Given the description of an element on the screen output the (x, y) to click on. 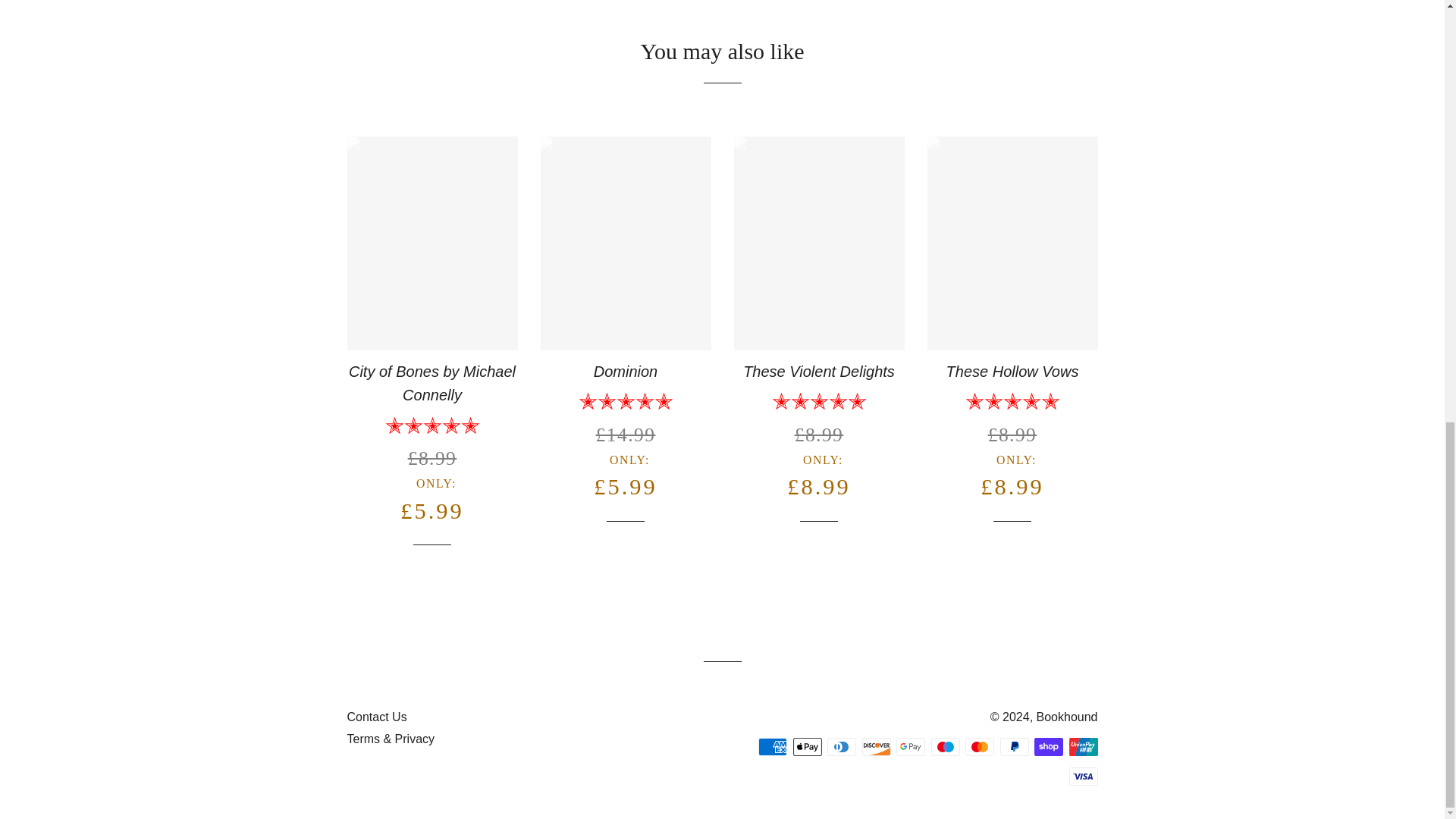
Apple Pay (807, 746)
Visa (1082, 776)
Discover (875, 746)
Diners Club (841, 746)
Union Pay (1082, 746)
Maestro (945, 746)
Google Pay (910, 746)
Mastercard (979, 746)
Shop Pay (1047, 746)
American Express (772, 746)
